Given the description of an element on the screen output the (x, y) to click on. 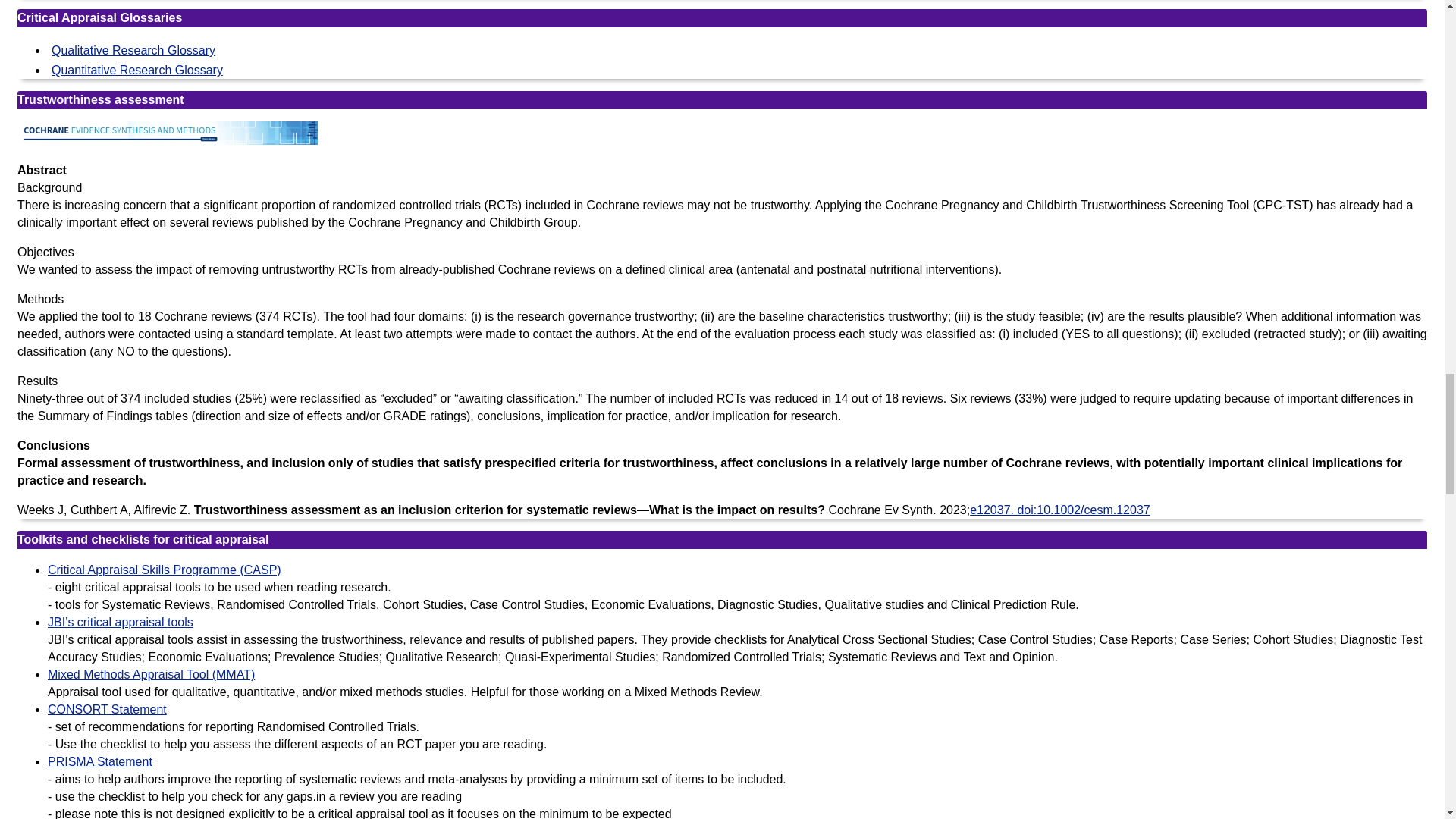
Qualitative Research Glossary (131, 50)
PRISMA Statement (100, 761)
Quantitative Research Glossary (135, 69)
CONSORT Statement (107, 708)
